Given the description of an element on the screen output the (x, y) to click on. 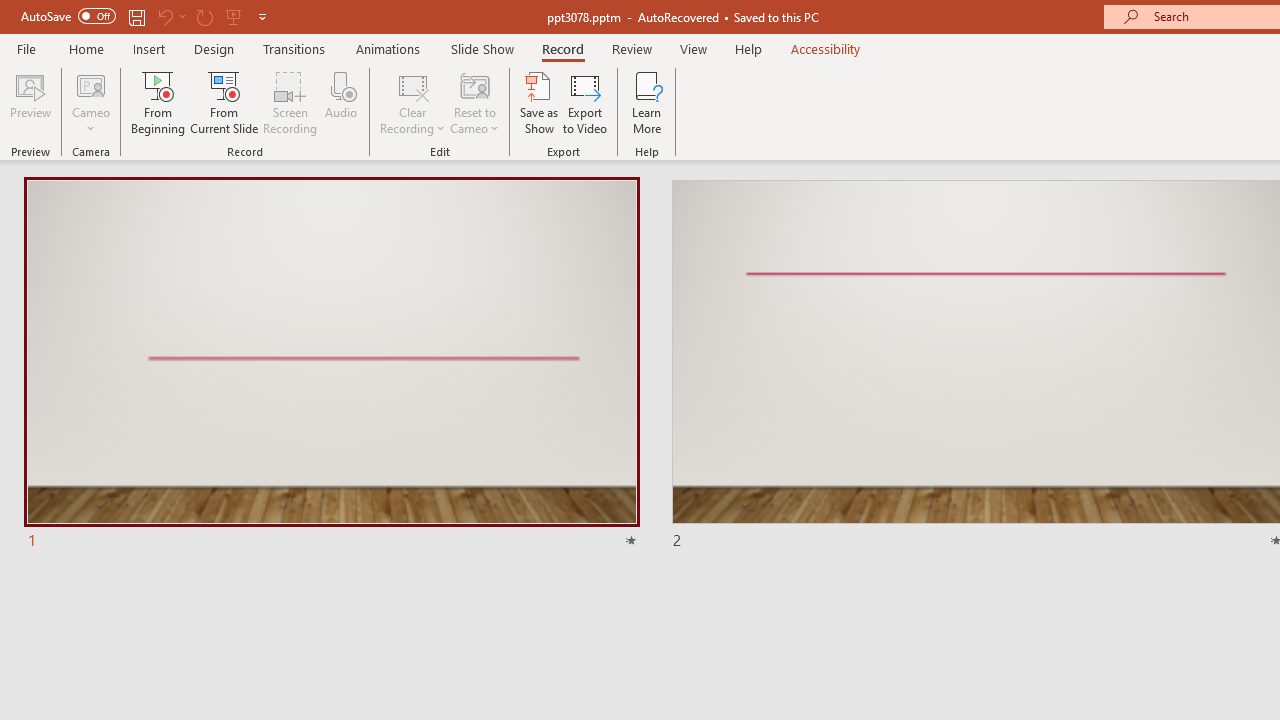
Clear Recording (412, 102)
Screen Recording (290, 102)
From Beginning... (158, 102)
